Given the description of an element on the screen output the (x, y) to click on. 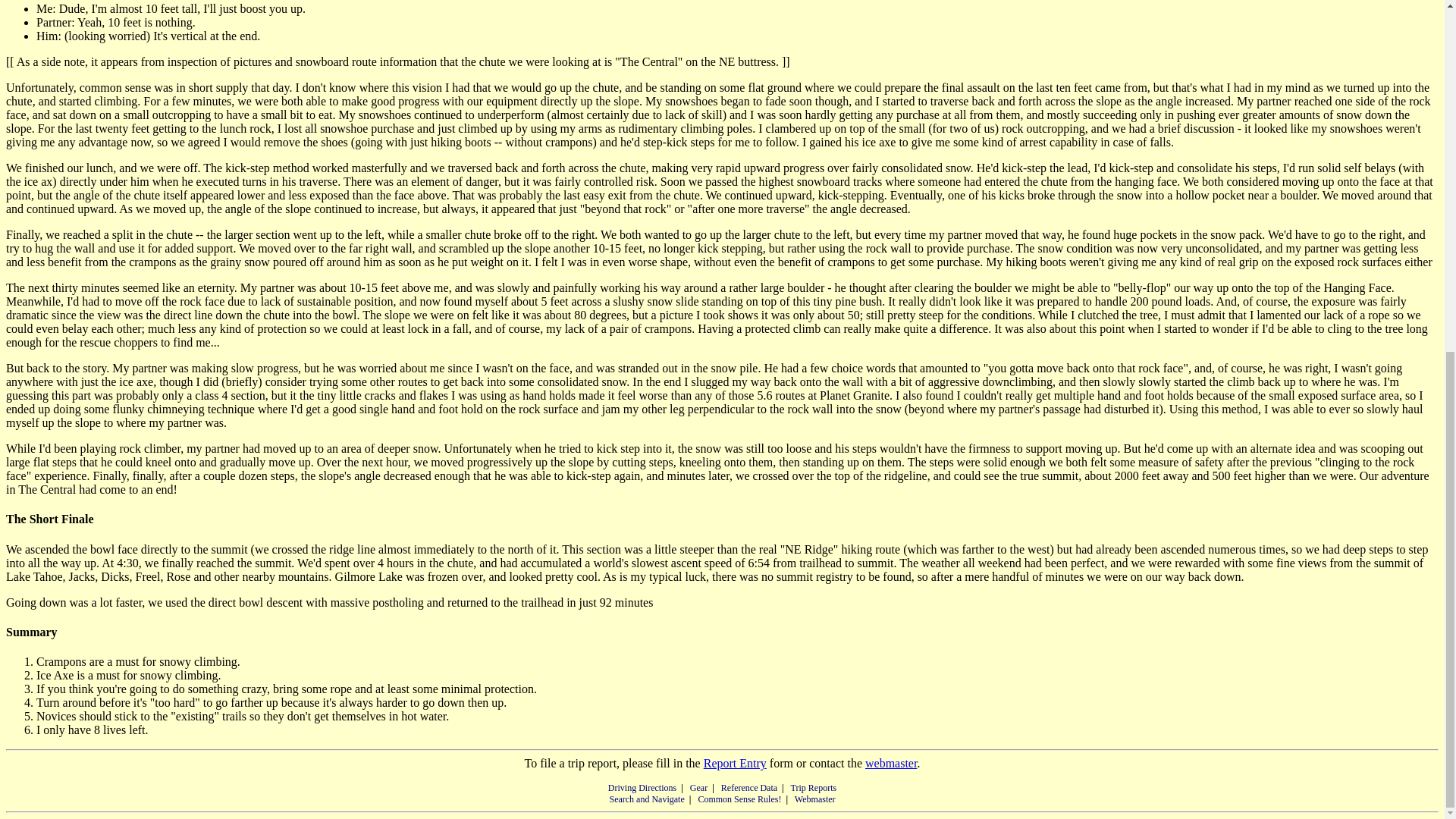
Reference Data (748, 787)
Webmaster (814, 798)
Driving Directions (642, 787)
Search and Navigate (646, 798)
Gear (698, 787)
Common Sense Rules! (738, 798)
Trip Reports (813, 787)
webmaster (890, 762)
Report Entry (735, 762)
